Given the description of an element on the screen output the (x, y) to click on. 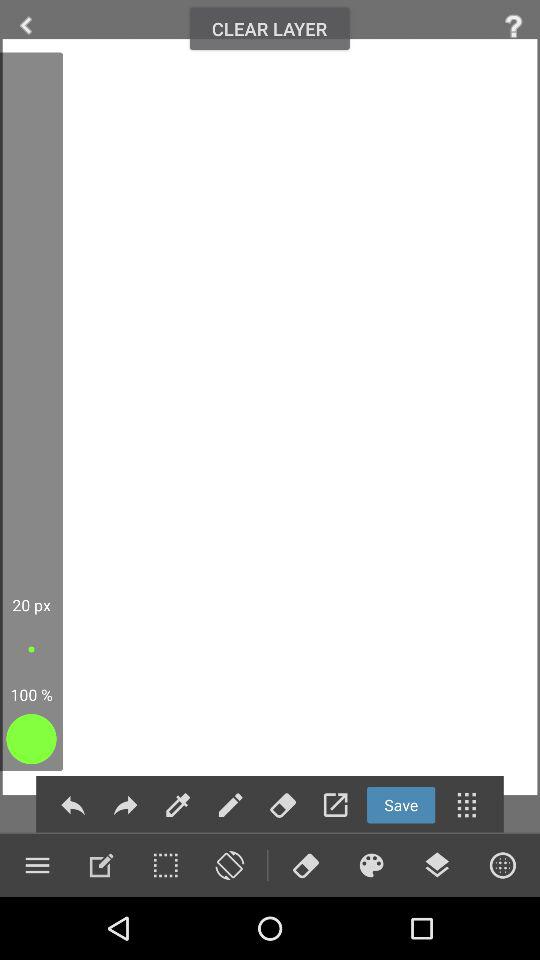
menu button (437, 865)
